Given the description of an element on the screen output the (x, y) to click on. 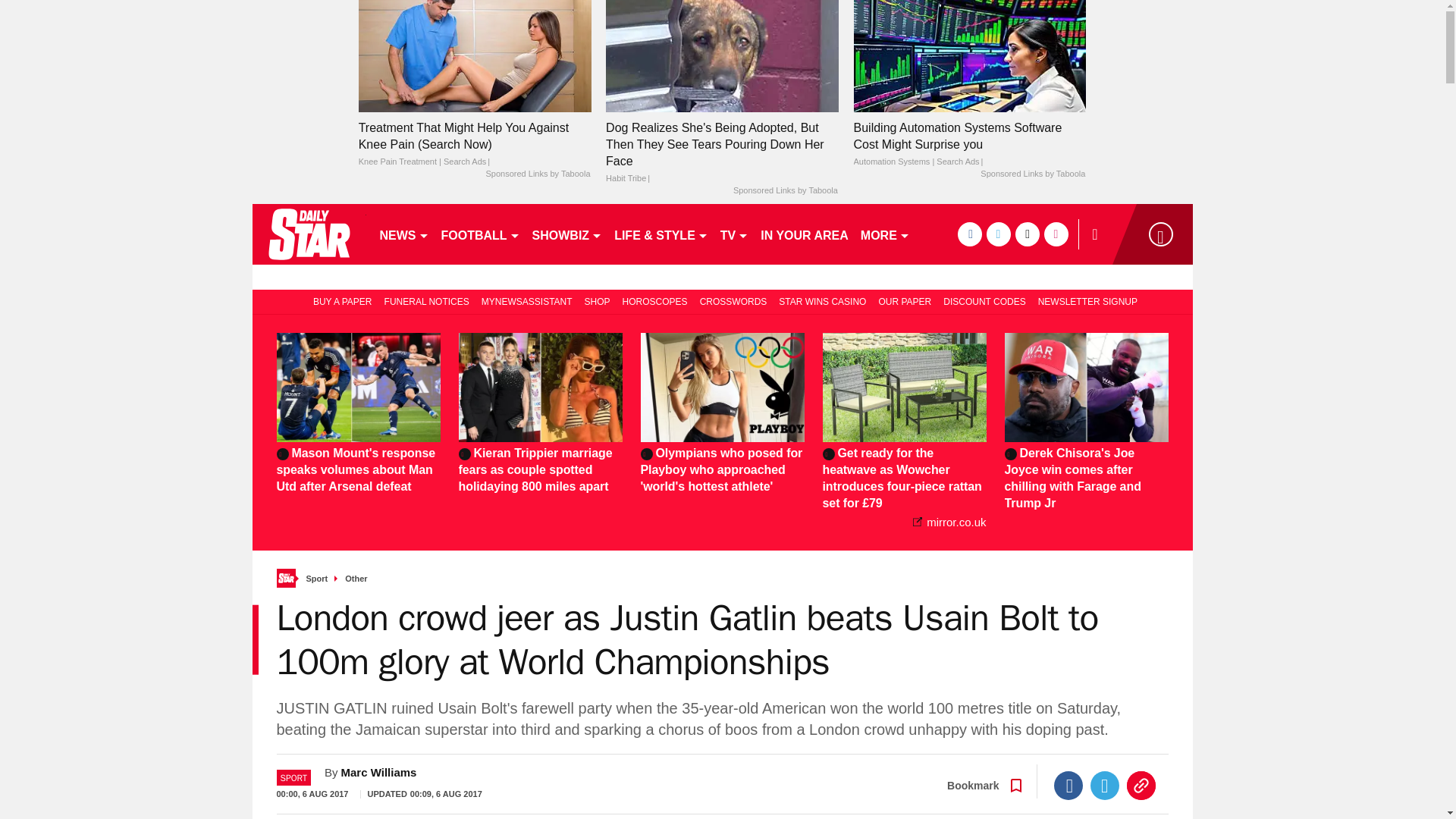
Facebook (1068, 785)
Building Automation Systems Software Cost Might Surprise you (969, 55)
Sponsored Links by Taboola (785, 190)
dailystar (308, 233)
Sponsored Links by Taboola (536, 174)
tiktok (1026, 233)
twitter (997, 233)
SHOWBIZ (566, 233)
Sponsored Links by Taboola (1031, 174)
Building Automation Systems Software Cost Might Surprise you (969, 144)
Twitter (1104, 785)
FOOTBALL (480, 233)
facebook (968, 233)
